Given the description of an element on the screen output the (x, y) to click on. 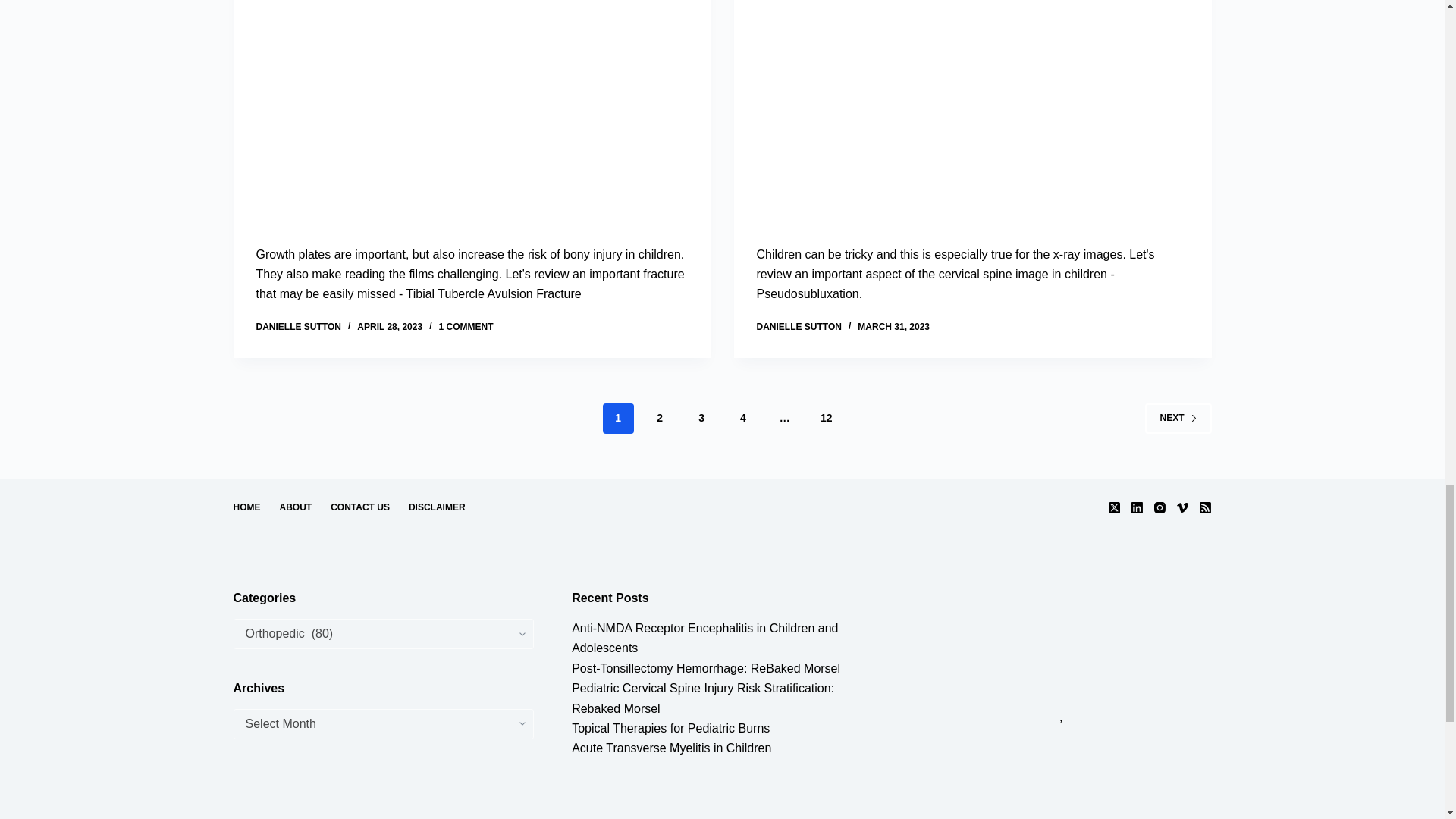
Posts by Danielle Sutton (799, 326)
pedemmorsels (1061, 646)
Posts by Danielle Sutton (298, 326)
